Given the description of an element on the screen output the (x, y) to click on. 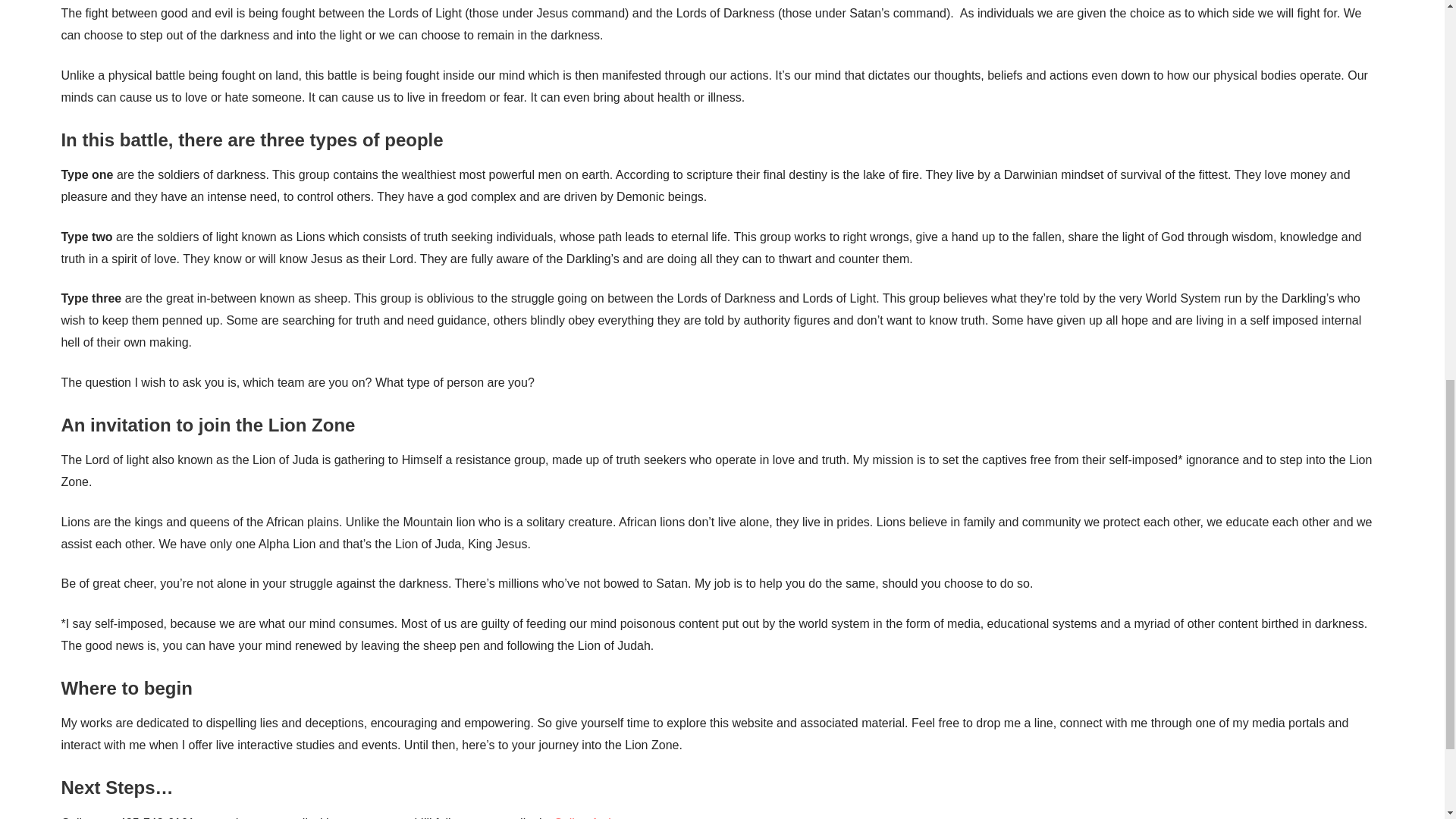
Call to Action (587, 817)
